Given the description of an element on the screen output the (x, y) to click on. 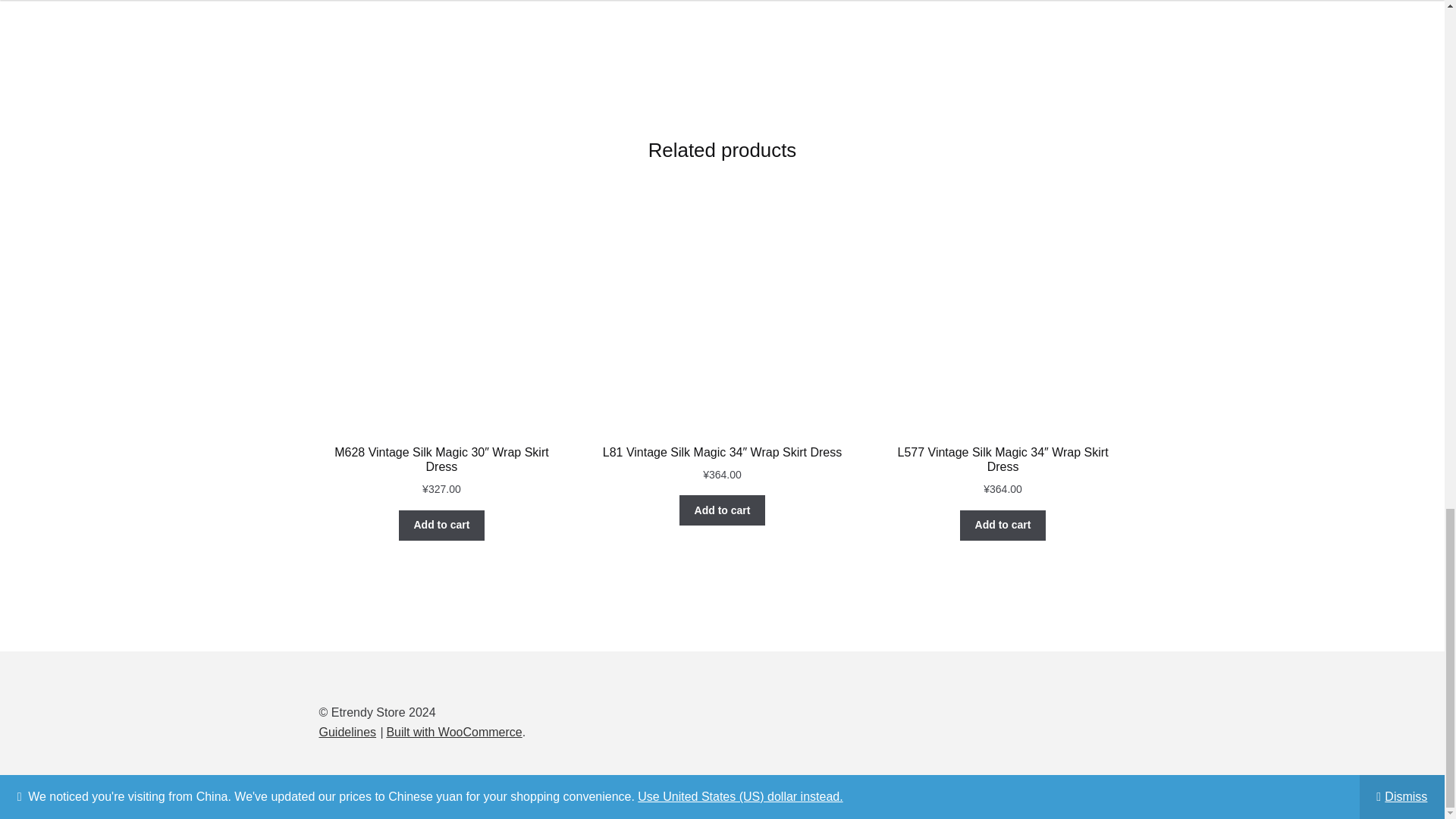
WooCommerce - The Best eCommerce Platform for WordPress (453, 731)
